Given the description of an element on the screen output the (x, y) to click on. 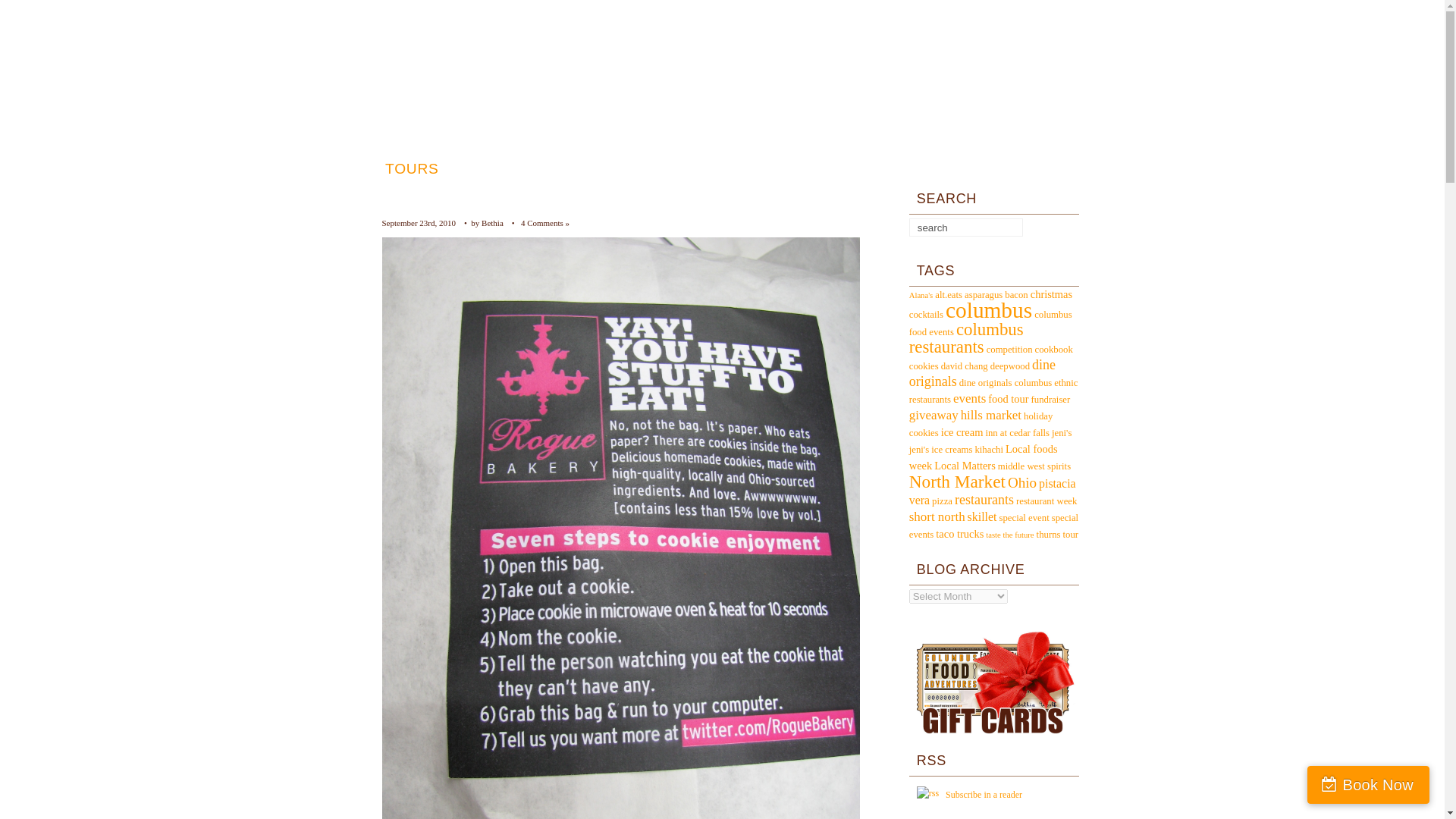
Home (719, 91)
search (957, 228)
BLOG (1014, 168)
Subscribe to my feed (983, 794)
PRIVATE EVENTS (531, 168)
Subscribe to my feed (928, 794)
Permanent Link to Rogue Bakery (433, 193)
GIFT BOXES (784, 168)
ABOUT (943, 168)
Rogue Bakery (433, 193)
FAQs (873, 168)
TOURS (409, 168)
search (957, 228)
GIFT CARDS (667, 168)
